Given the description of an element on the screen output the (x, y) to click on. 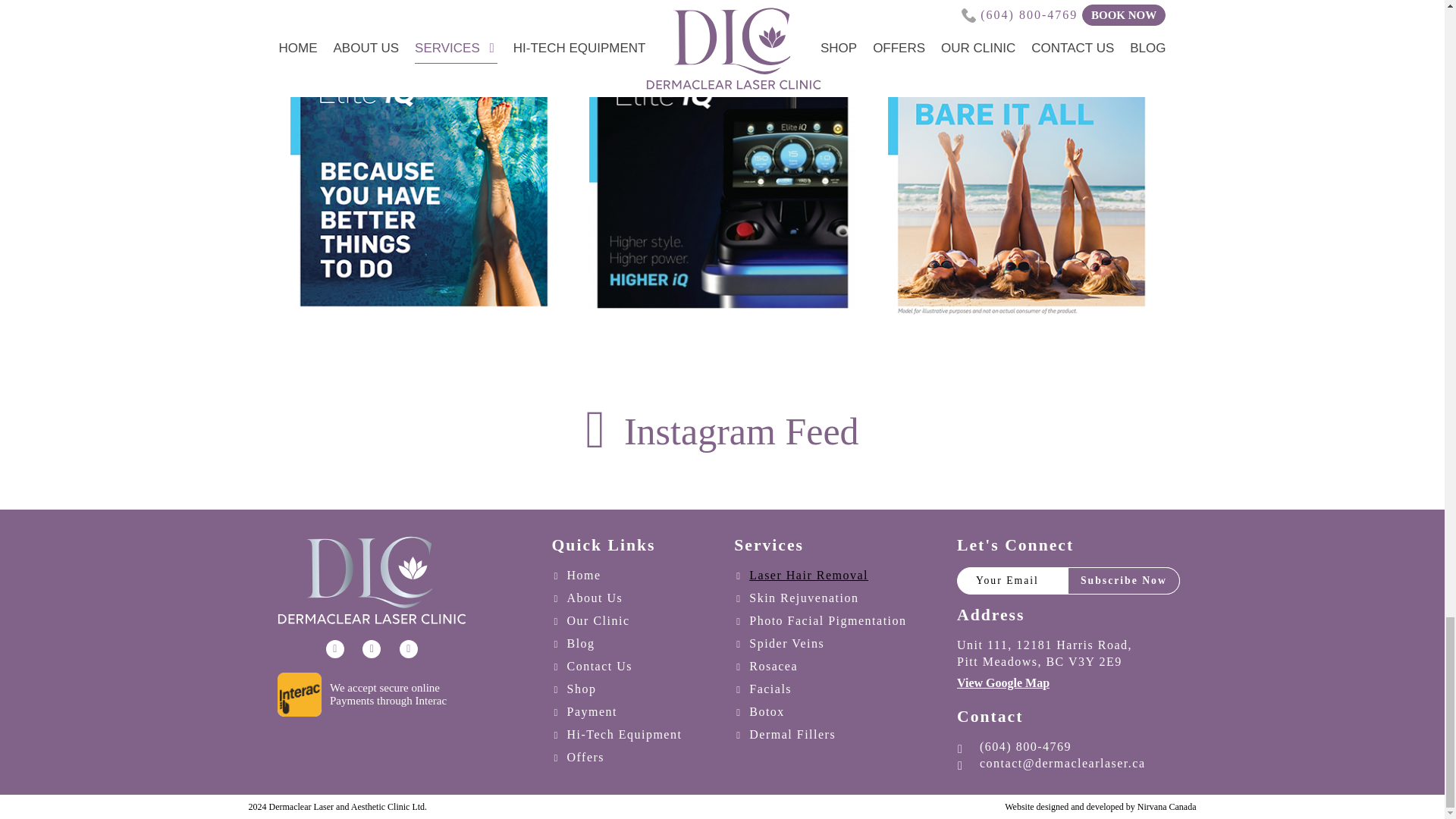
Subscribe Now (1123, 580)
